Given the description of an element on the screen output the (x, y) to click on. 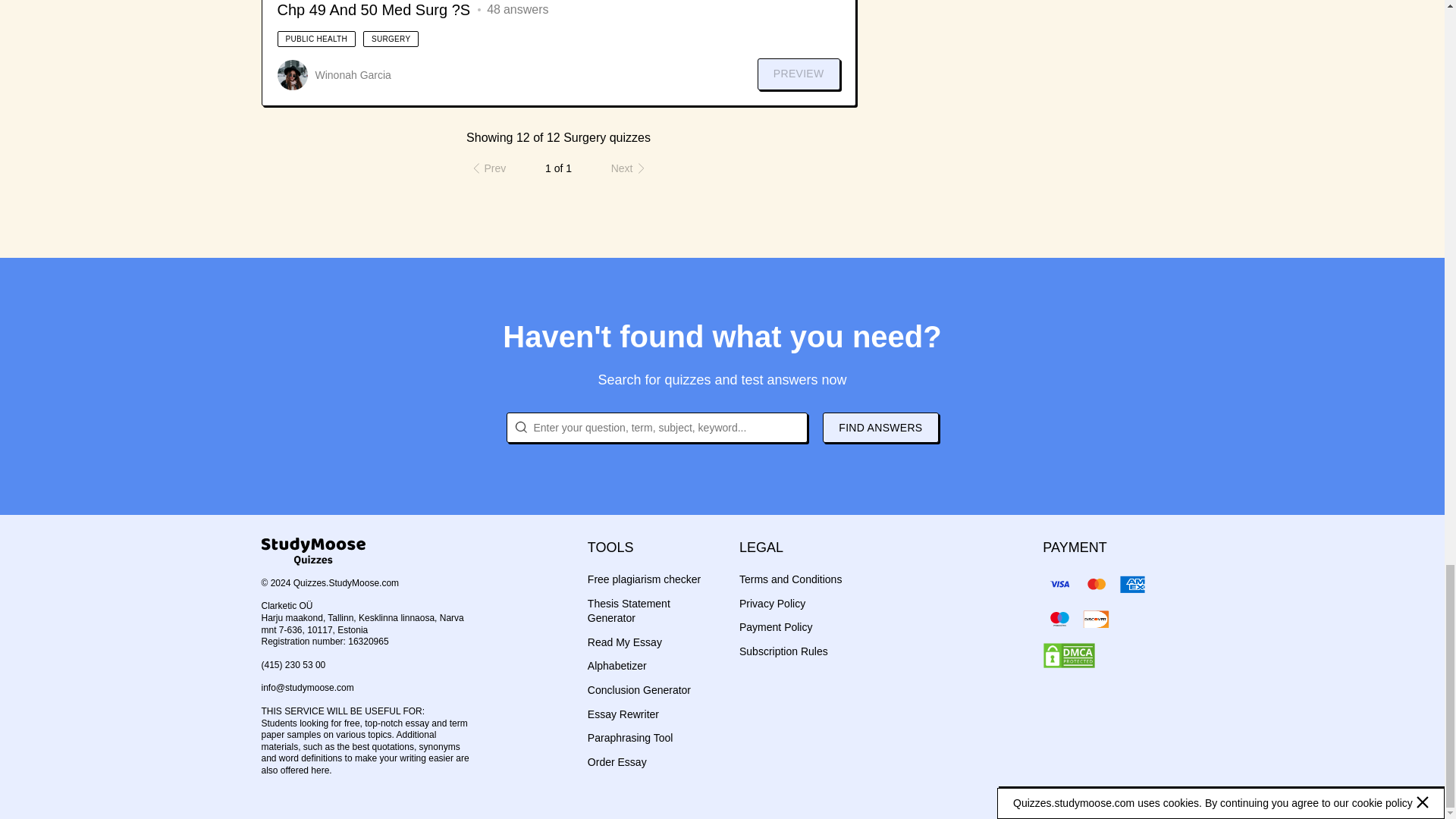
DMCA.com Protection Status (1069, 655)
